Given the description of an element on the screen output the (x, y) to click on. 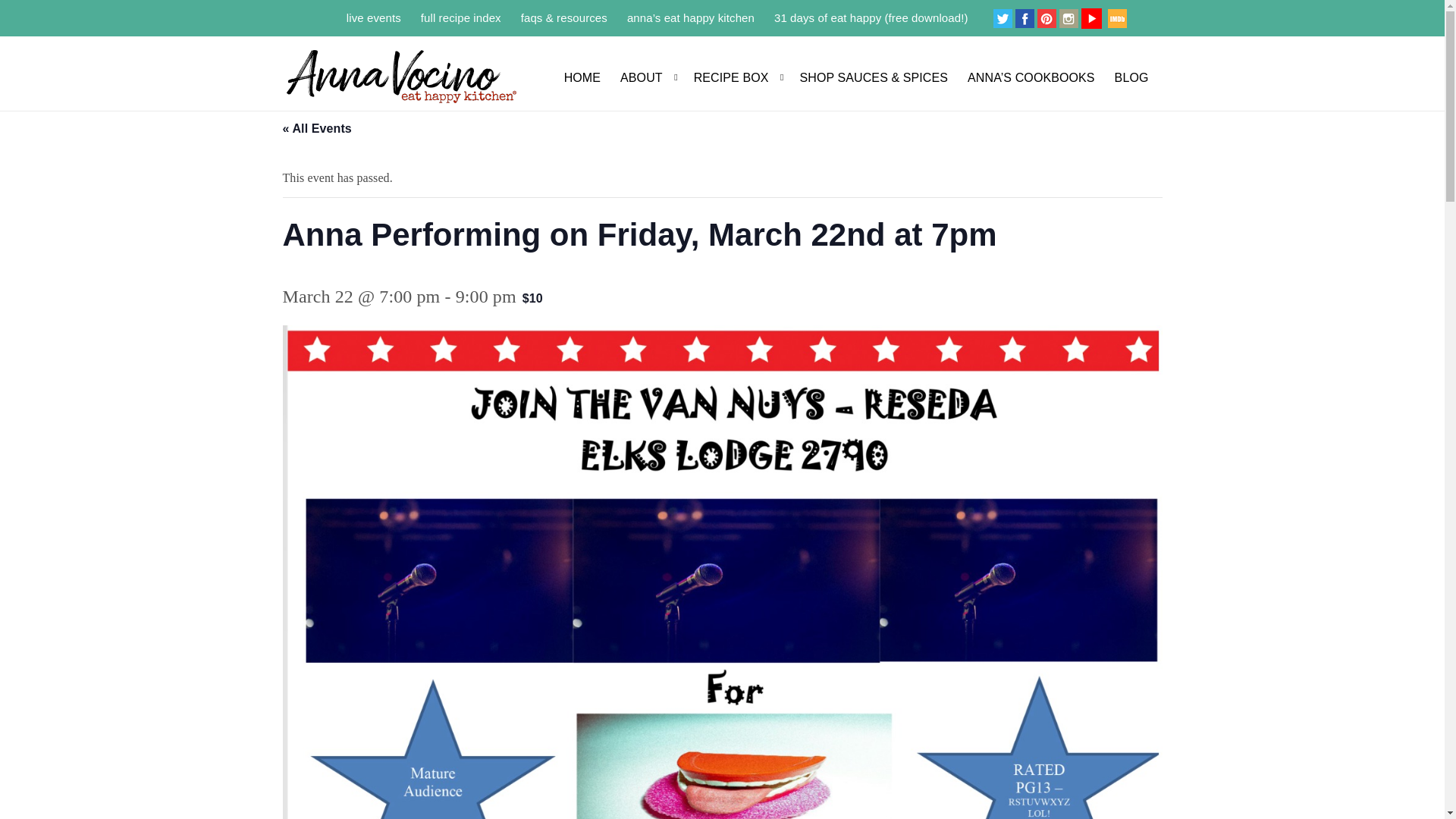
HOME (581, 67)
ABOUT (647, 67)
live events (373, 18)
RECIPE BOX (737, 67)
full recipe index (460, 18)
